Given the description of an element on the screen output the (x, y) to click on. 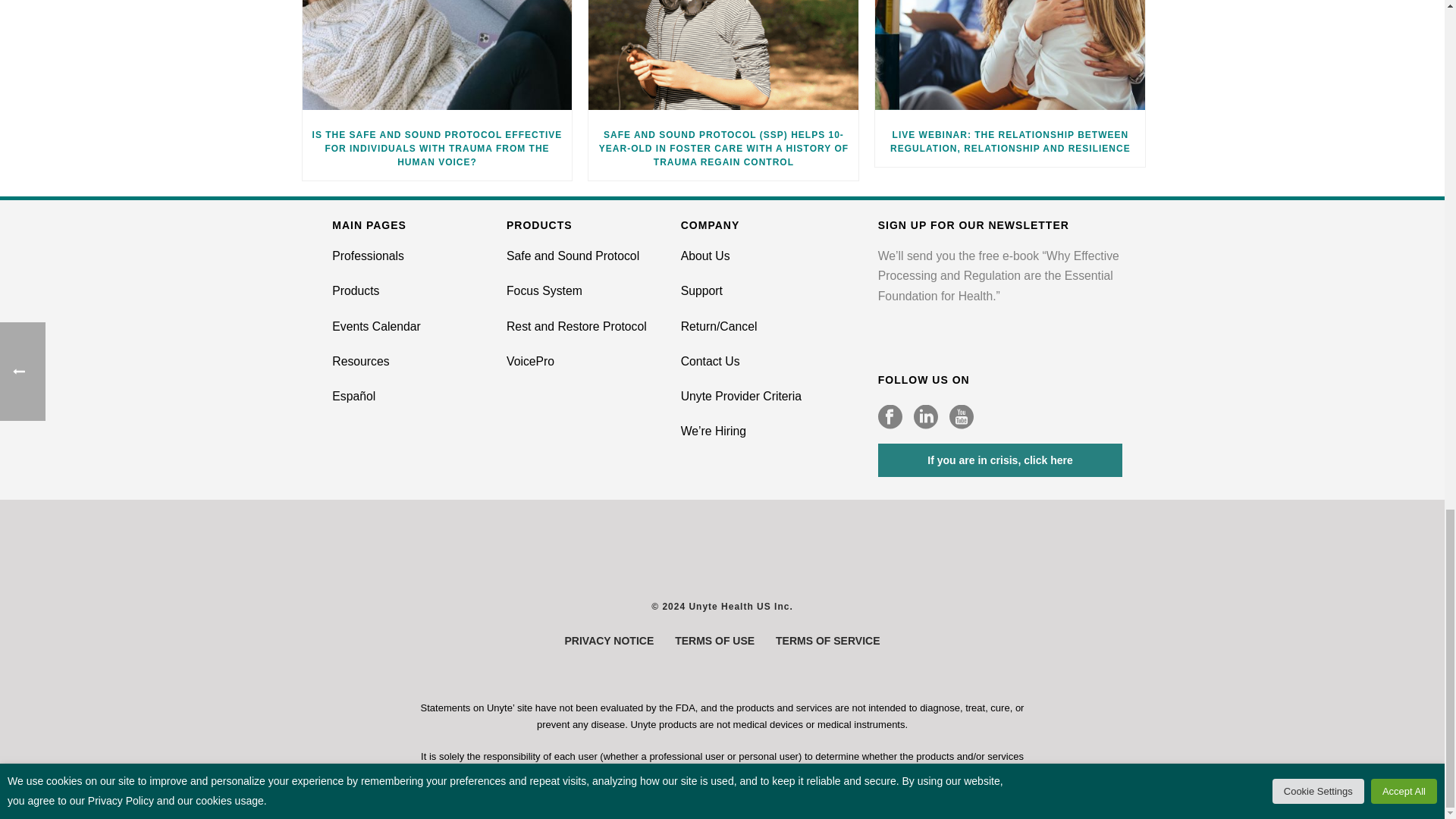
Follow Us on facebook (889, 417)
Follow Us on youtube (961, 417)
Follow Us on linkedin (925, 417)
